Given the description of an element on the screen output the (x, y) to click on. 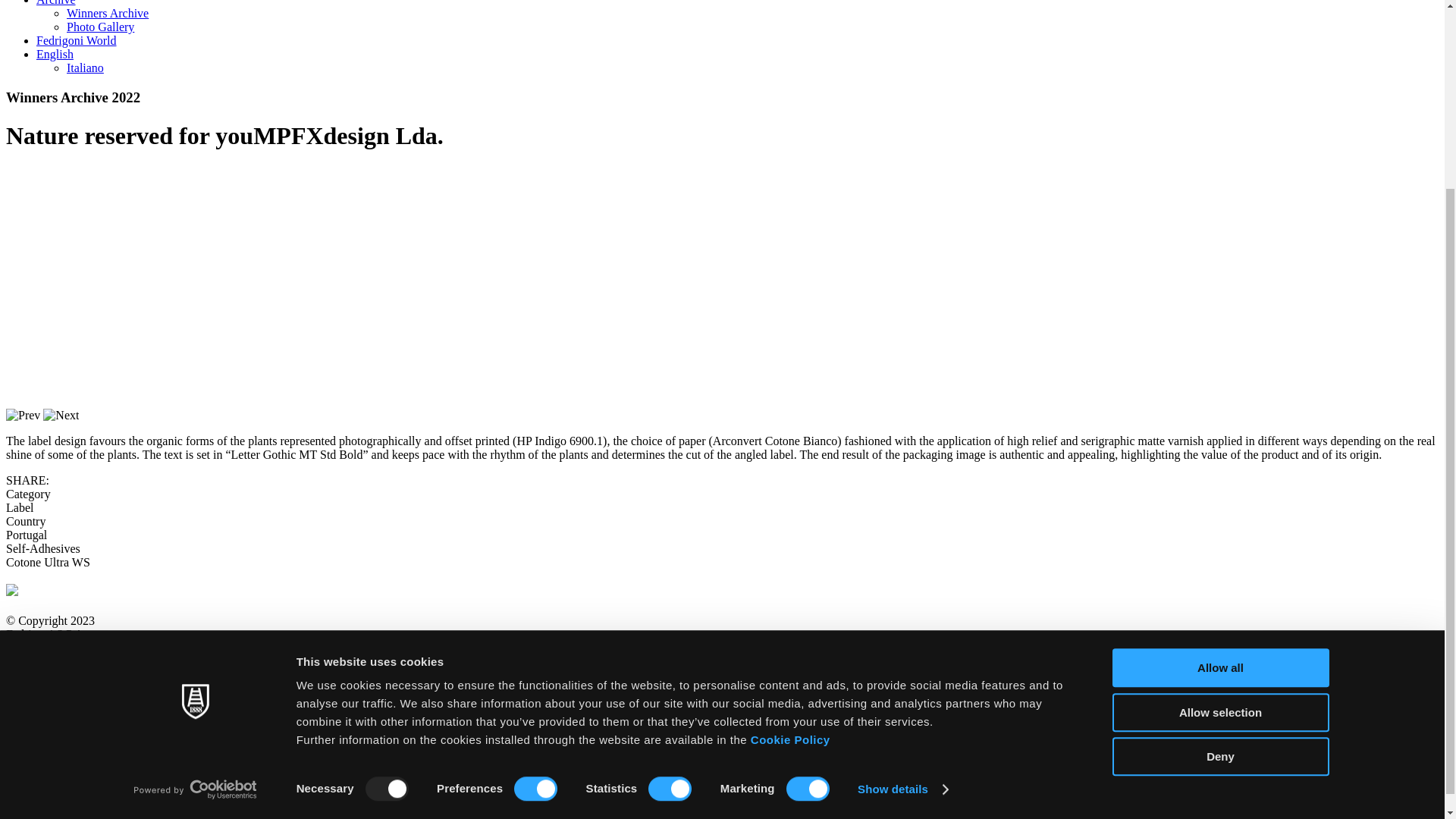
Allow all (1219, 426)
Show details (902, 548)
Cookie Policy (790, 499)
Deny (1219, 515)
Allow selection (1219, 471)
